Given the description of an element on the screen output the (x, y) to click on. 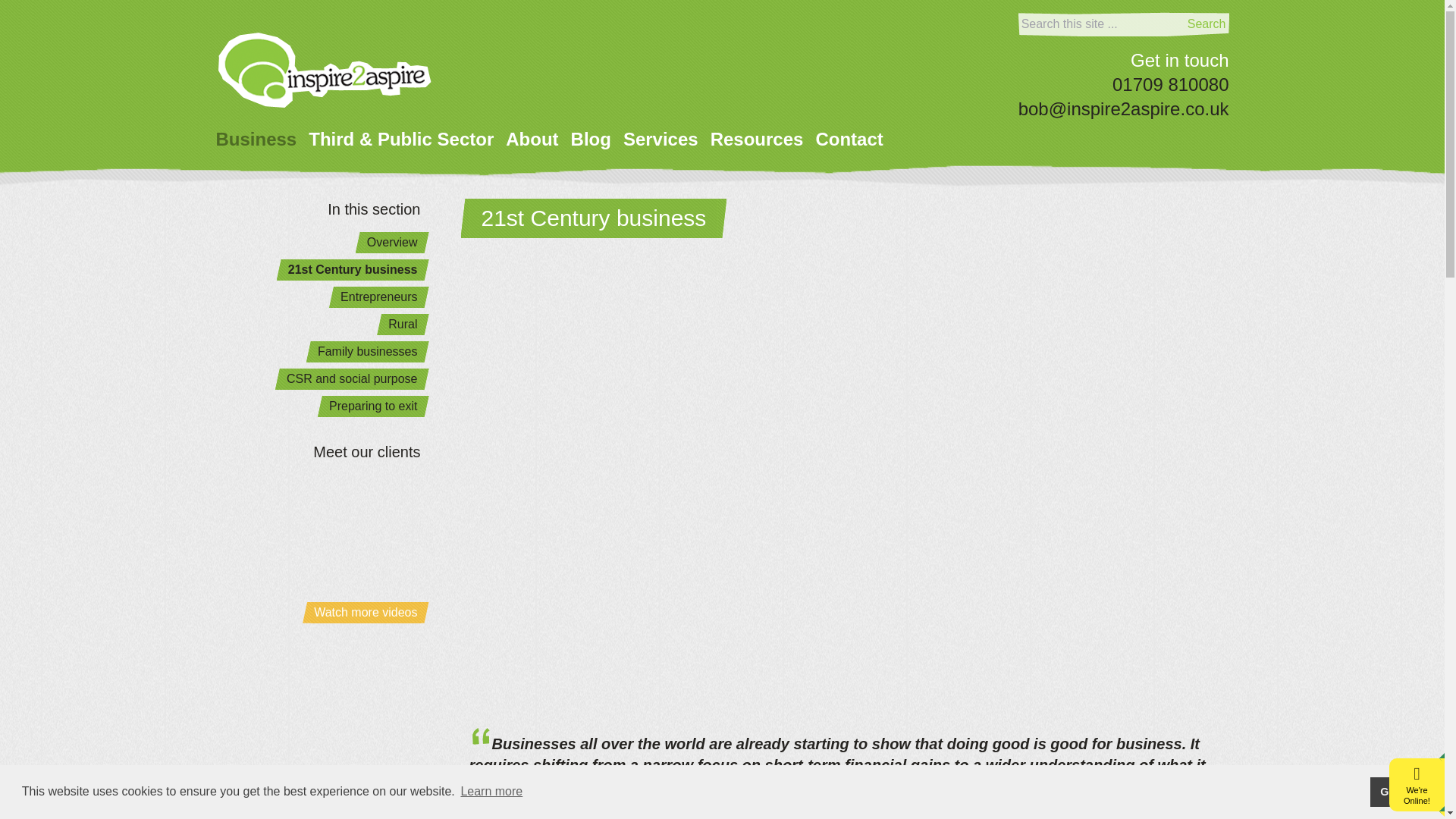
About (531, 139)
Blog (590, 139)
We're Online! (1417, 794)
Learn more (491, 791)
01709 810080 (1170, 84)
Got it! (1396, 791)
Search (1206, 24)
Resources (756, 139)
Business (256, 139)
Services (660, 139)
